Given the description of an element on the screen output the (x, y) to click on. 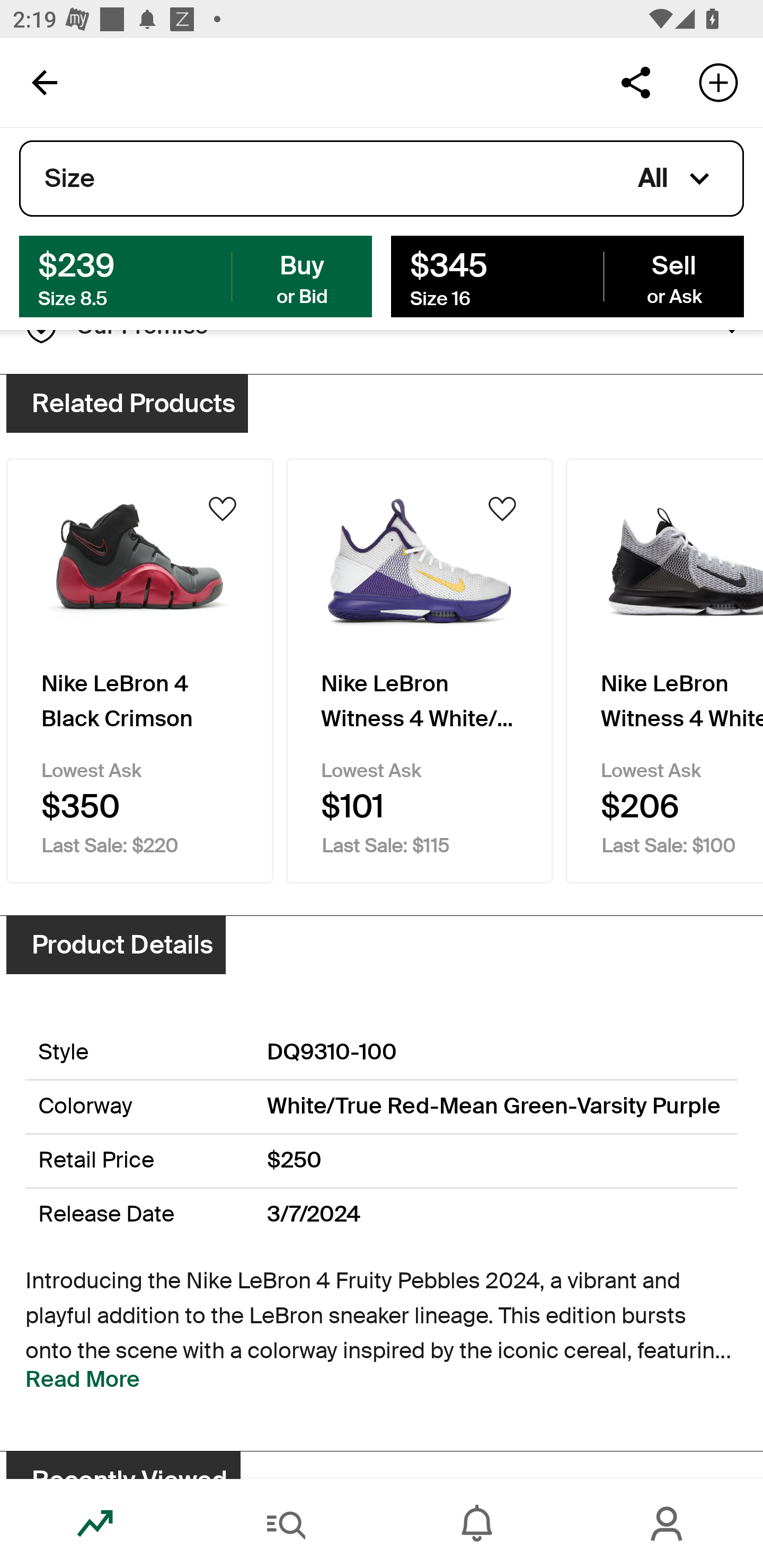
Share (635, 81)
Add (718, 81)
Size All (381, 178)
$239 Buy Size 8.5 or Bid (195, 275)
$345 Sell Size 16 or Ask (566, 275)
Read More (82, 1379)
Search (285, 1523)
Inbox (476, 1523)
Account (667, 1523)
